Given the description of an element on the screen output the (x, y) to click on. 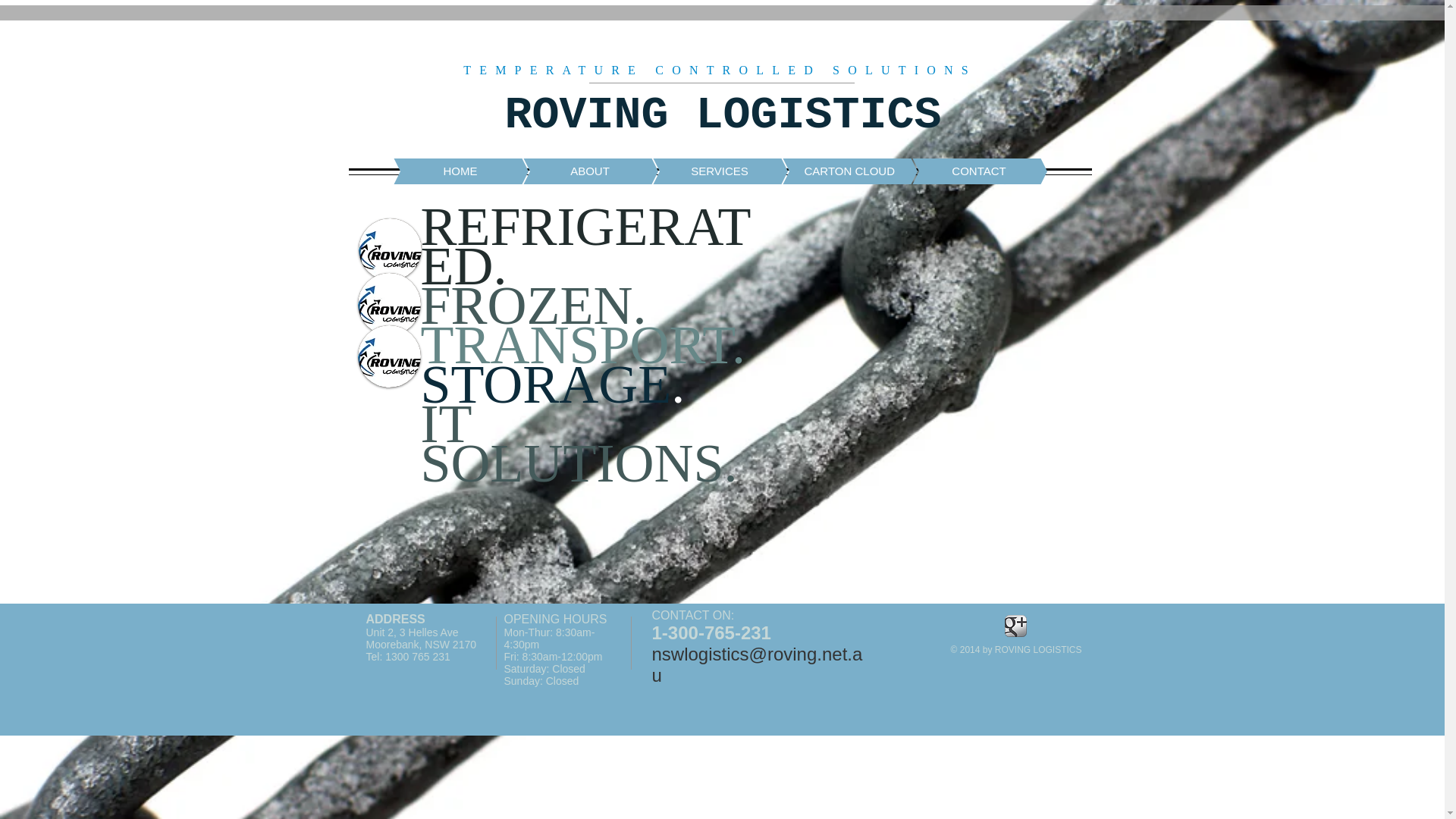
REFRIGERATED. Element type: text (585, 248)
IT SOLUTIONS. Element type: text (578, 446)
FROZEN. Element type: text (533, 307)
roving large.jpg Element type: hover (388, 249)
SERVICES Element type: text (696, 171)
roving large.jpg Element type: hover (388, 356)
nswlogistics@roving.net.au Element type: text (757, 664)
TRANSPORT. Element type: text (582, 347)
CONTACT Element type: text (956, 171)
STORAGE. Element type: text (552, 386)
HOME Element type: text (437, 171)
roving large.jpg Element type: hover (388, 304)
ABOUT Element type: text (566, 171)
CARTON CLOUD Element type: text (825, 171)
